Given the description of an element on the screen output the (x, y) to click on. 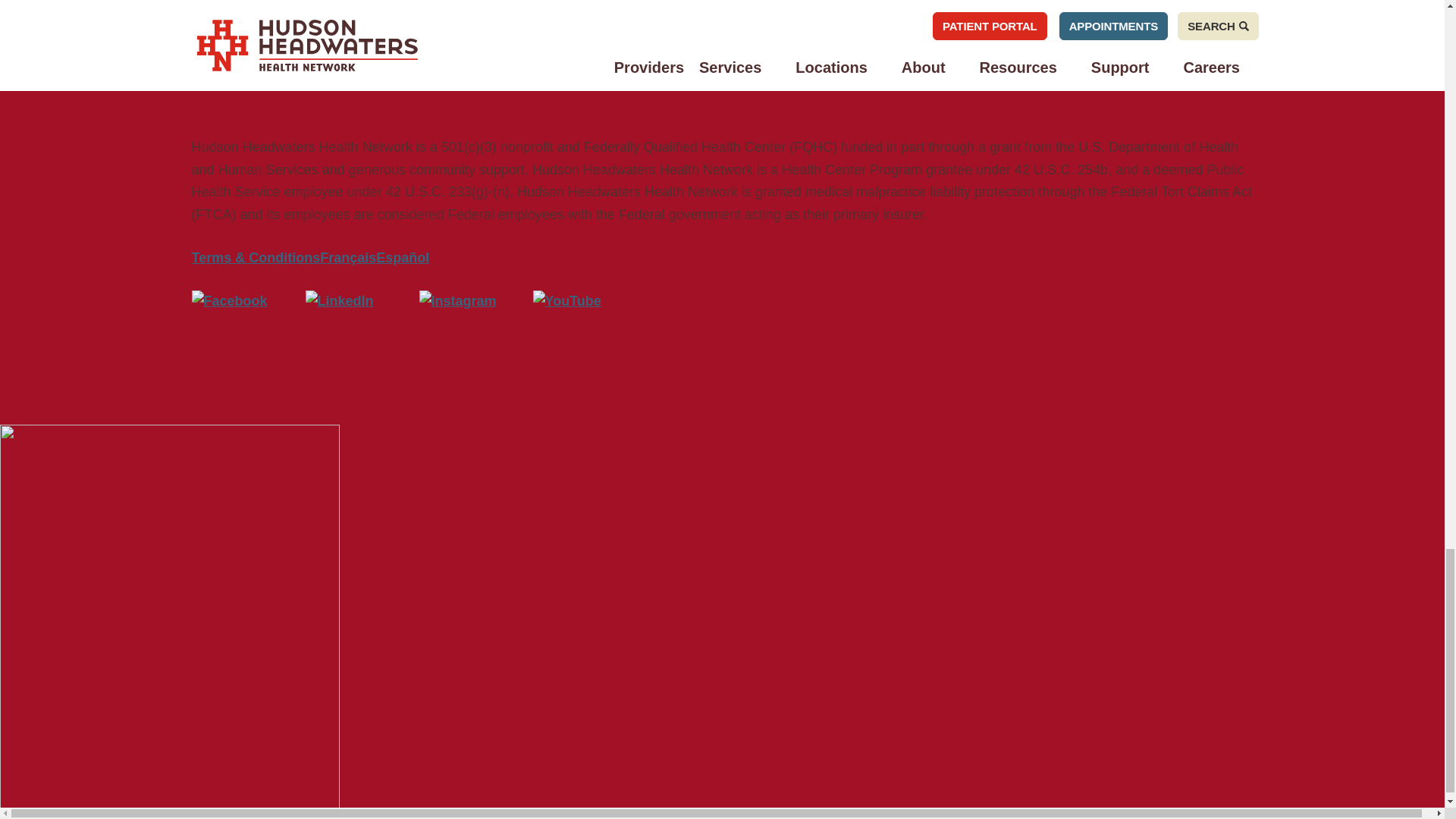
FSHCAA Deemed Health Center (782, 58)
Back to Top (169, 808)
NCQA Patient-Centered Medical Home Recognized Practice (276, 58)
2024 HRSA Addressing Social Risk Factors Awardee (593, 58)
HRSA 2024 Health Center Quality Leader (441, 58)
